Given the description of an element on the screen output the (x, y) to click on. 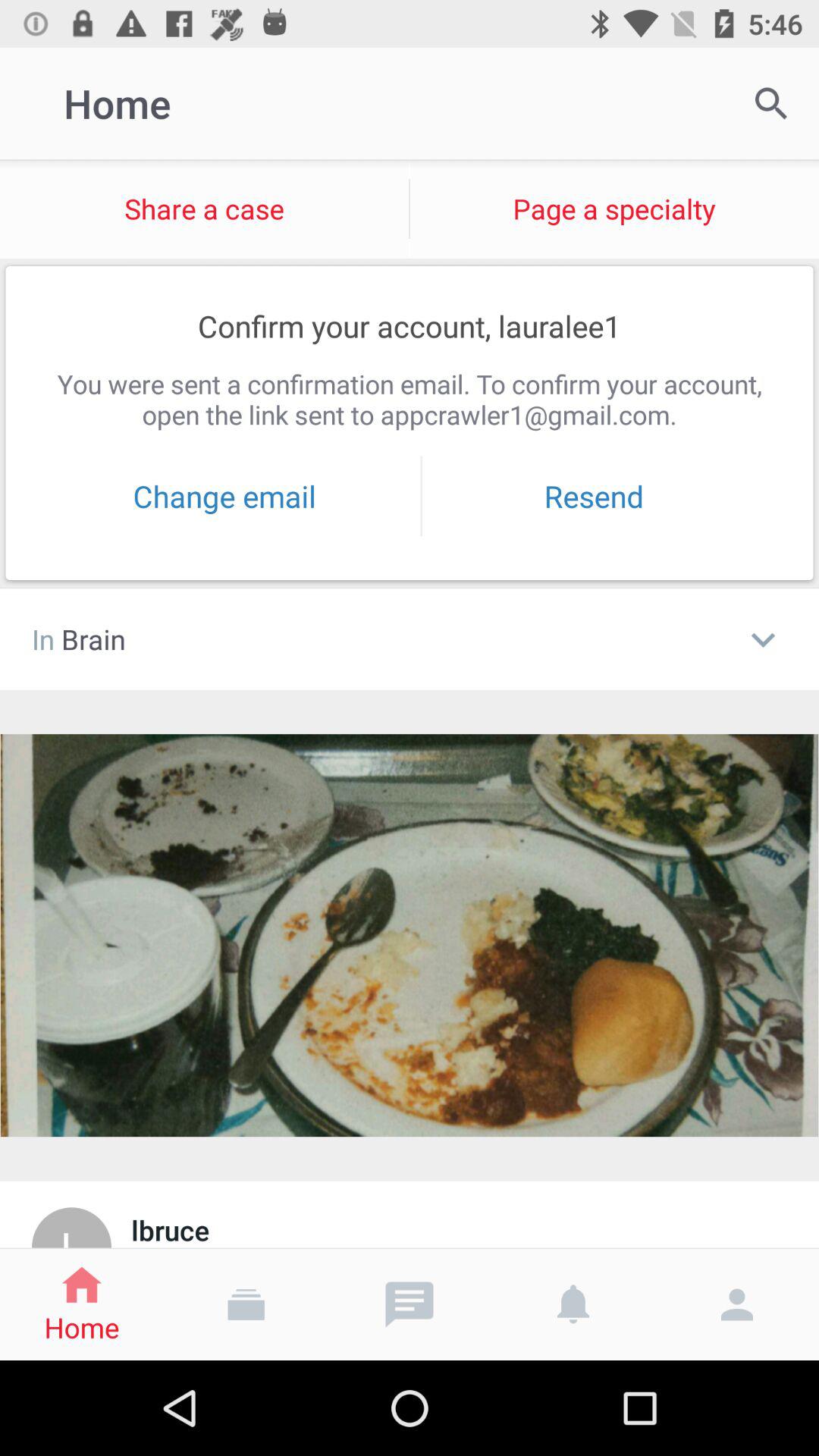
open item below home item (204, 208)
